Given the description of an element on the screen output the (x, y) to click on. 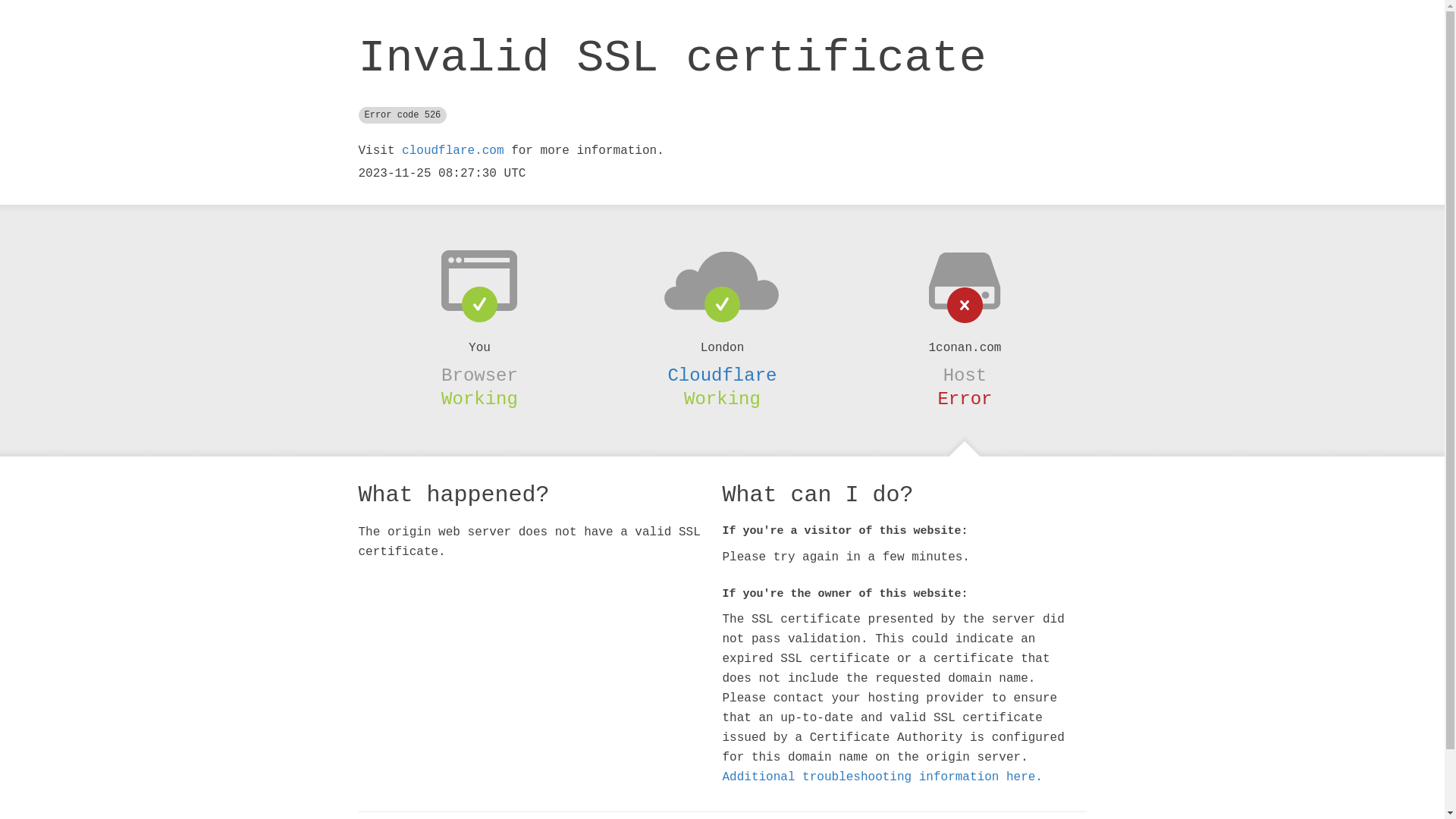
Additional troubleshooting information here. Element type: text (881, 777)
Cloudflare Element type: text (721, 375)
cloudflare.com Element type: text (452, 150)
